Given the description of an element on the screen output the (x, y) to click on. 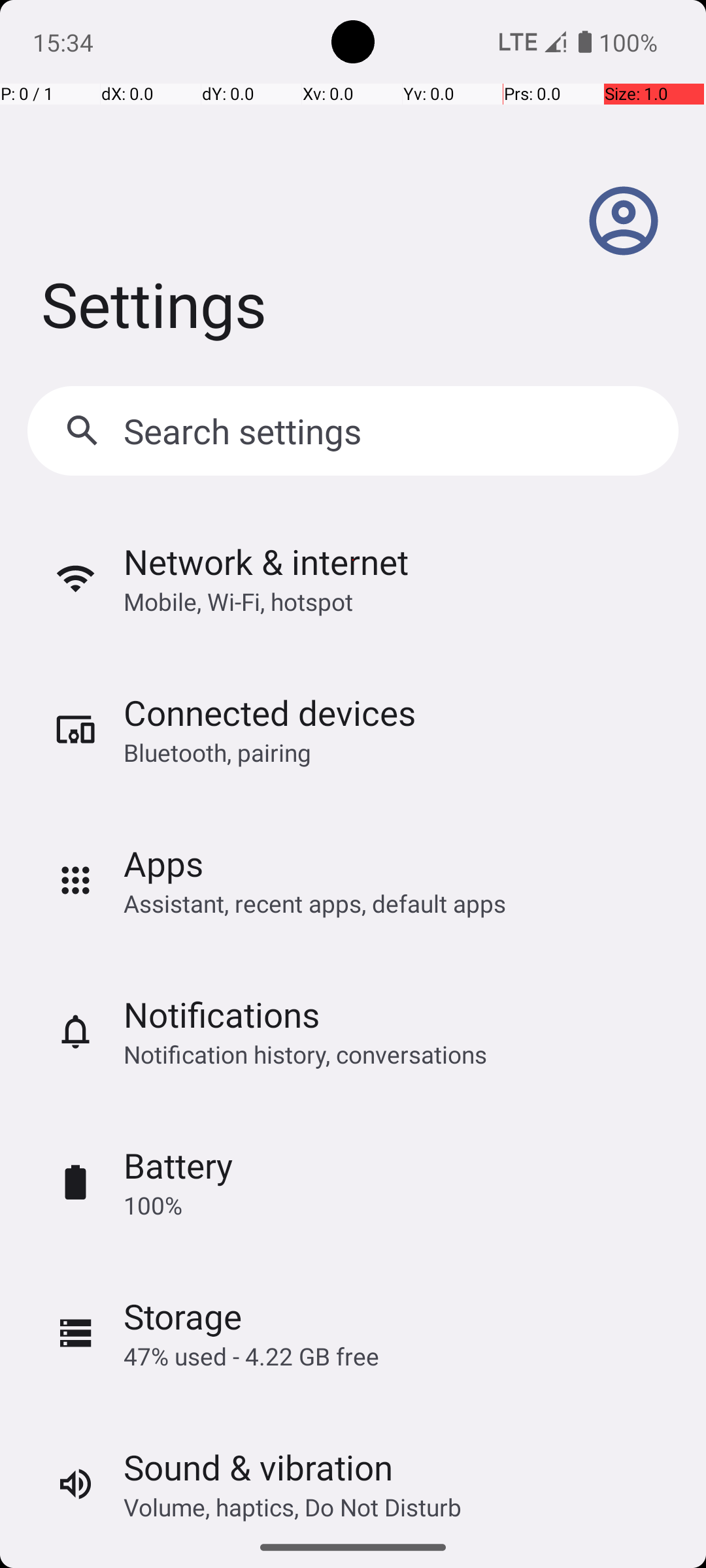
47% used - 4.22 GB free Element type: android.widget.TextView (251, 1355)
